Given the description of an element on the screen output the (x, y) to click on. 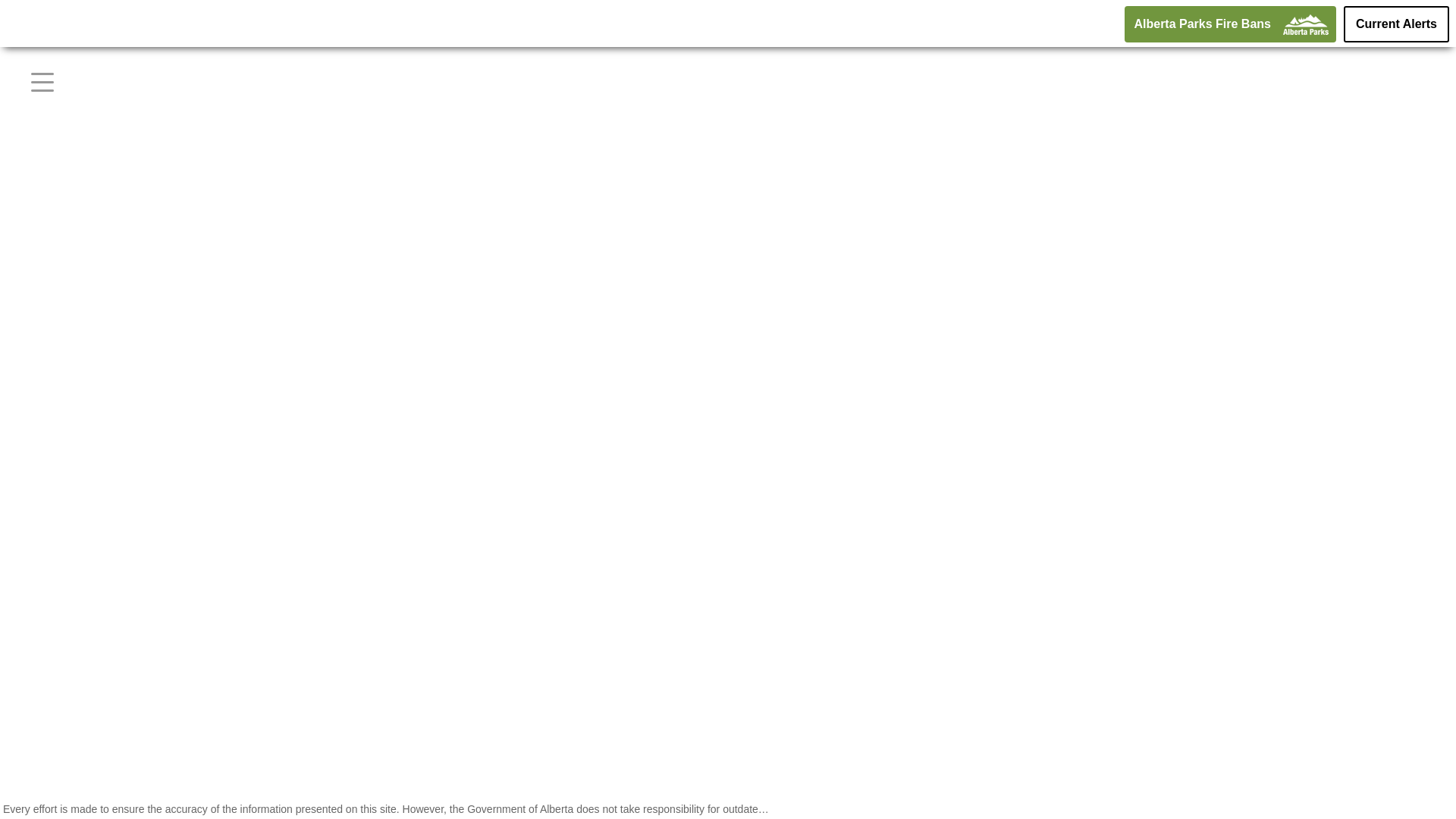
Alberta Parks Fire Bans Element type: text (1230, 24)
Open Menu Element type: text (41, 81)
Current Alerts Element type: text (1396, 24)
